Given the description of an element on the screen output the (x, y) to click on. 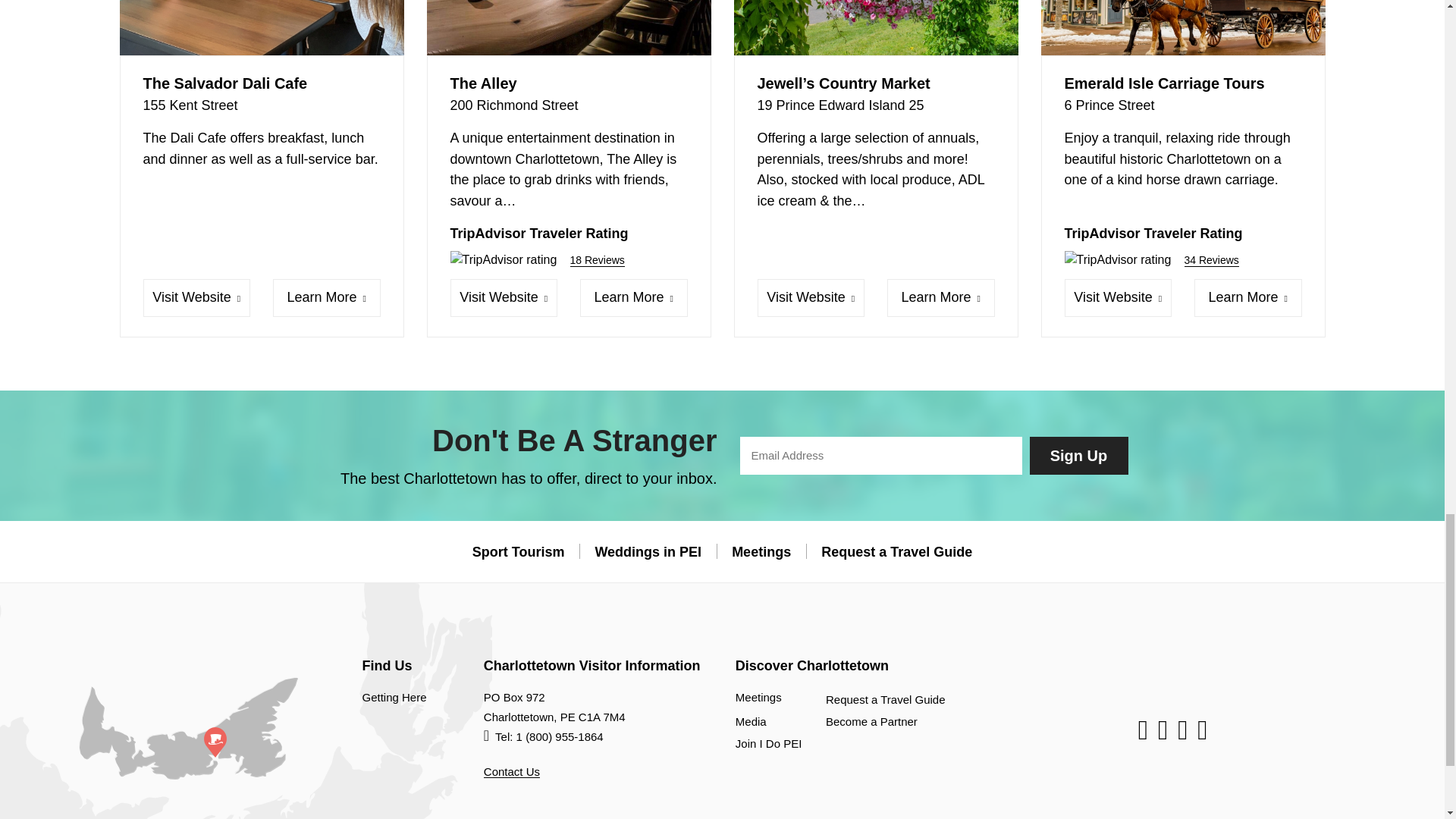
Sign Up (1078, 455)
